Given the description of an element on the screen output the (x, y) to click on. 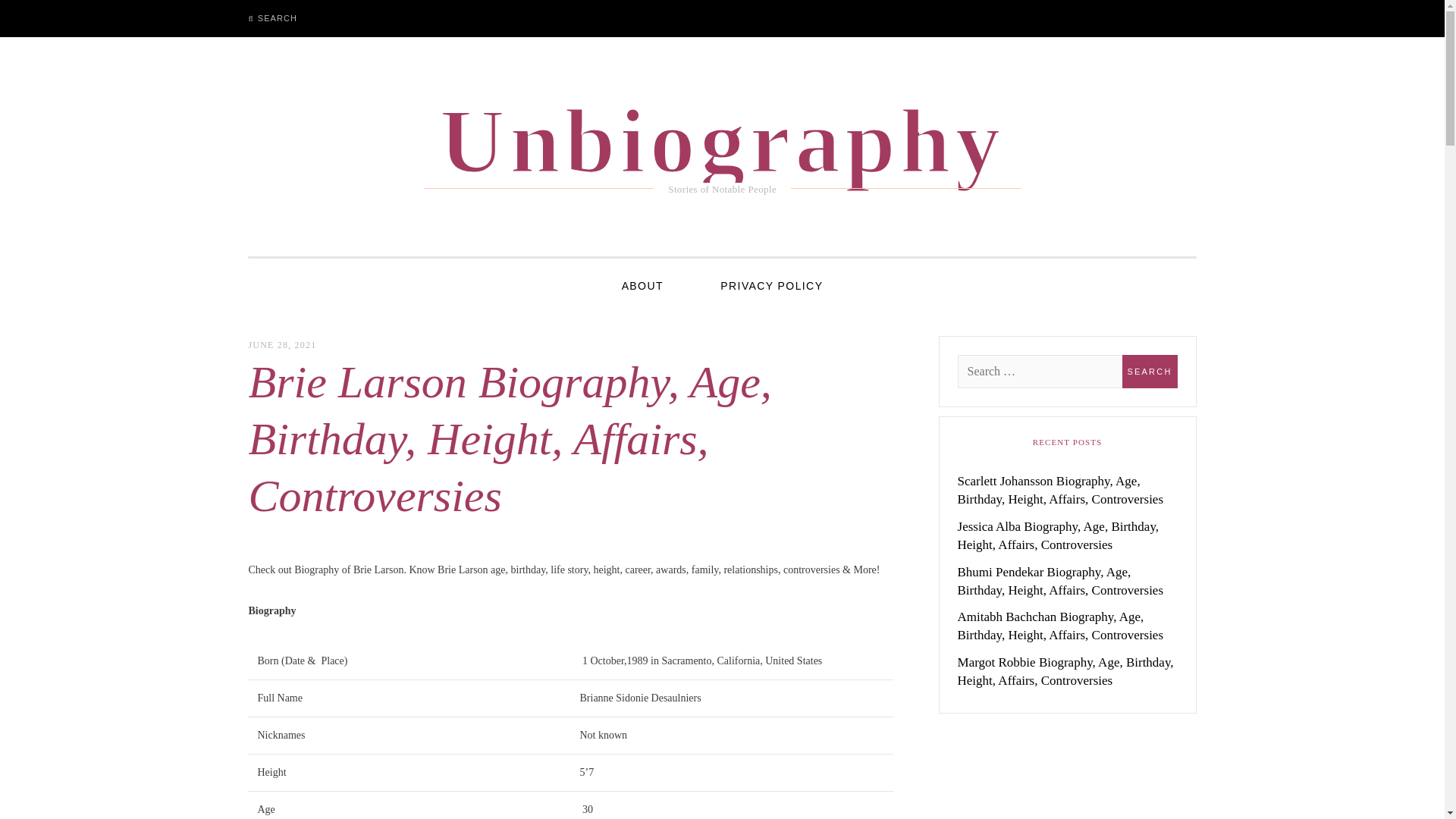
Search (1149, 371)
SEARCH (271, 18)
PRIVACY POLICY (771, 285)
Search (1149, 371)
ABOUT (642, 285)
Search (27, 16)
